Given the description of an element on the screen output the (x, y) to click on. 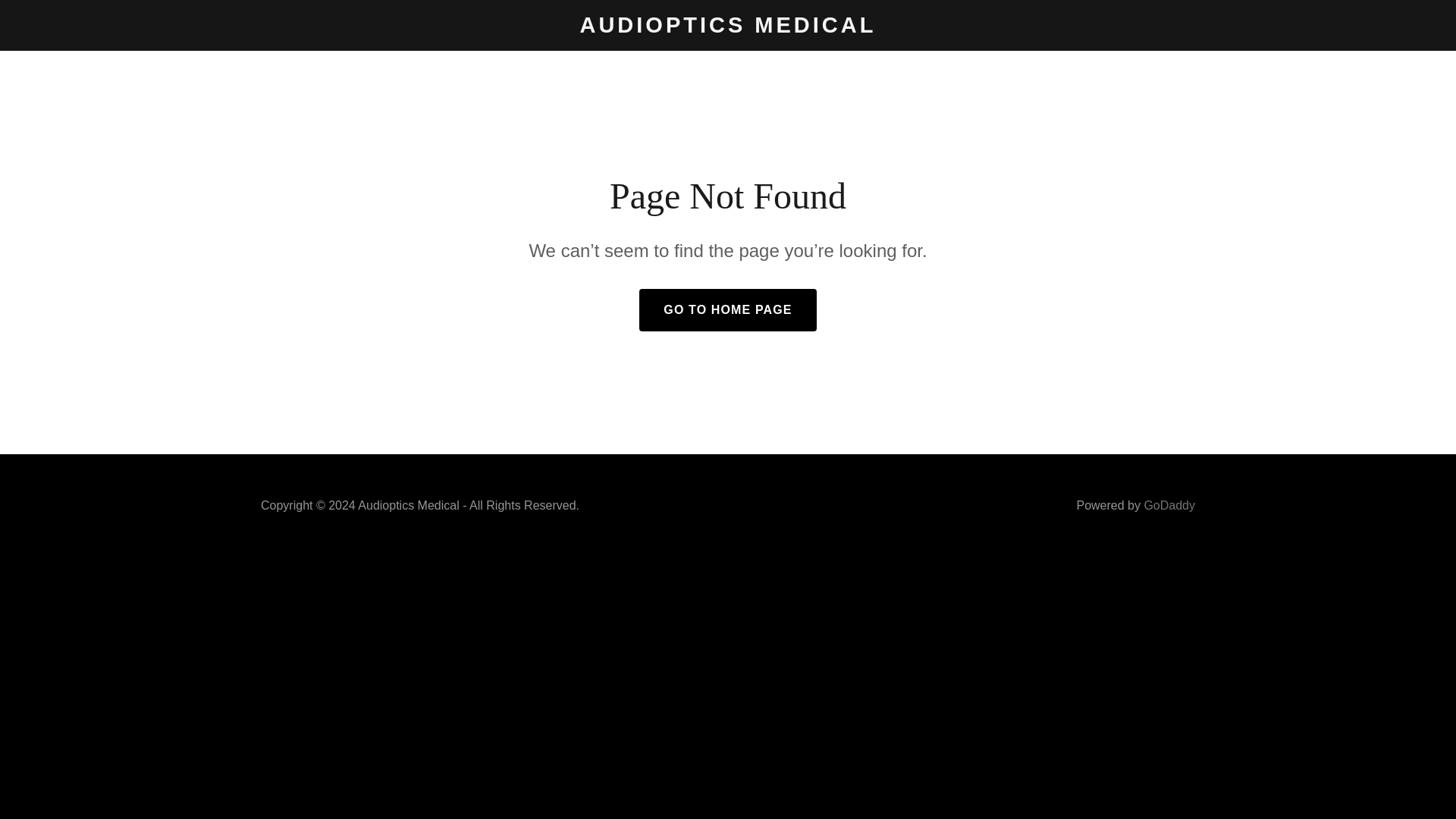
GO TO HOME PAGE (727, 310)
Audioptics Medical (727, 28)
AUDIOPTICS MEDICAL (727, 28)
GoDaddy (1168, 504)
